Given the description of an element on the screen output the (x, y) to click on. 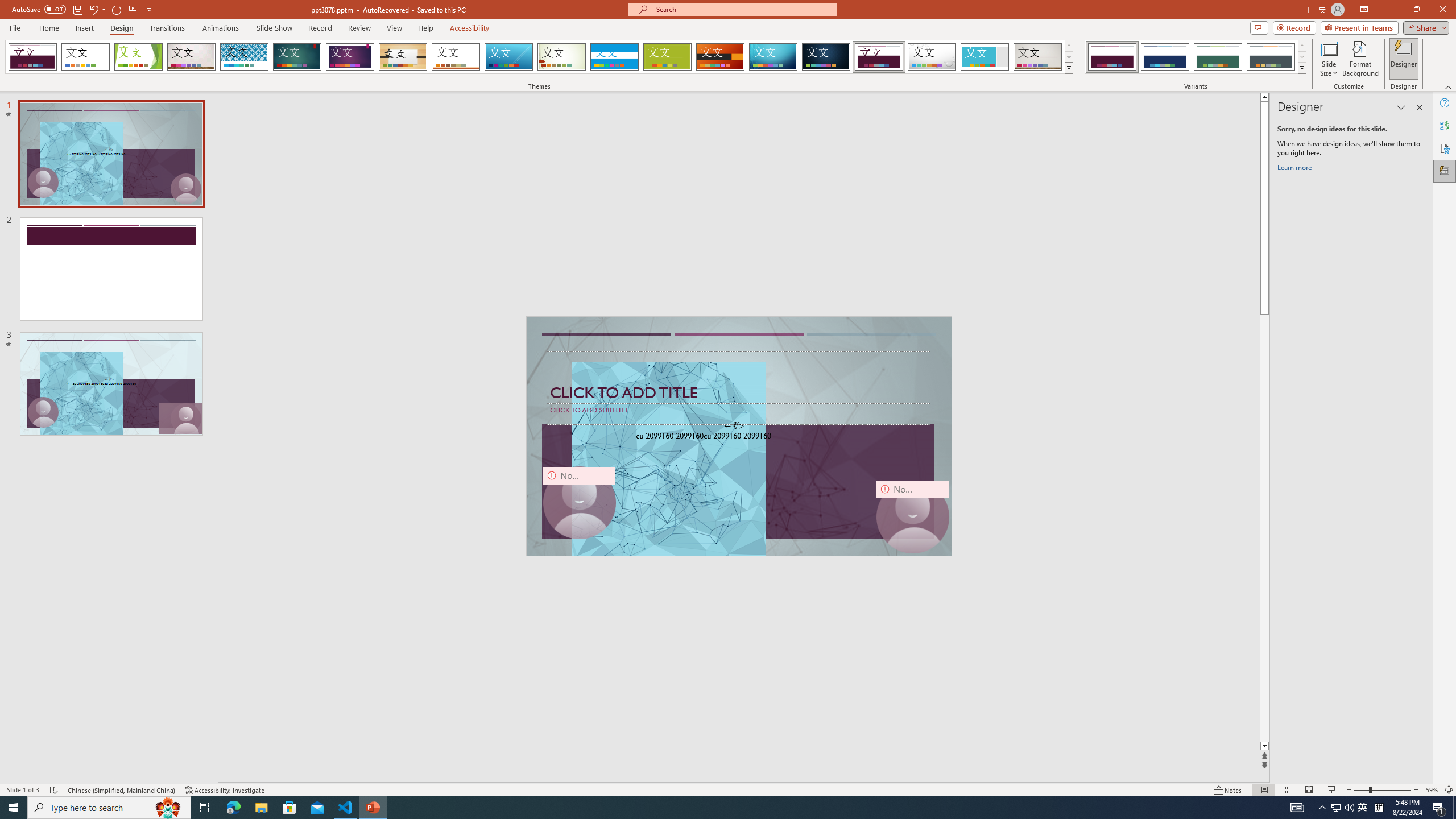
Frame (984, 56)
Camera 16, No camera detected. (912, 516)
An abstract genetic concept (739, 435)
Droplet (931, 56)
